Given the description of an element on the screen output the (x, y) to click on. 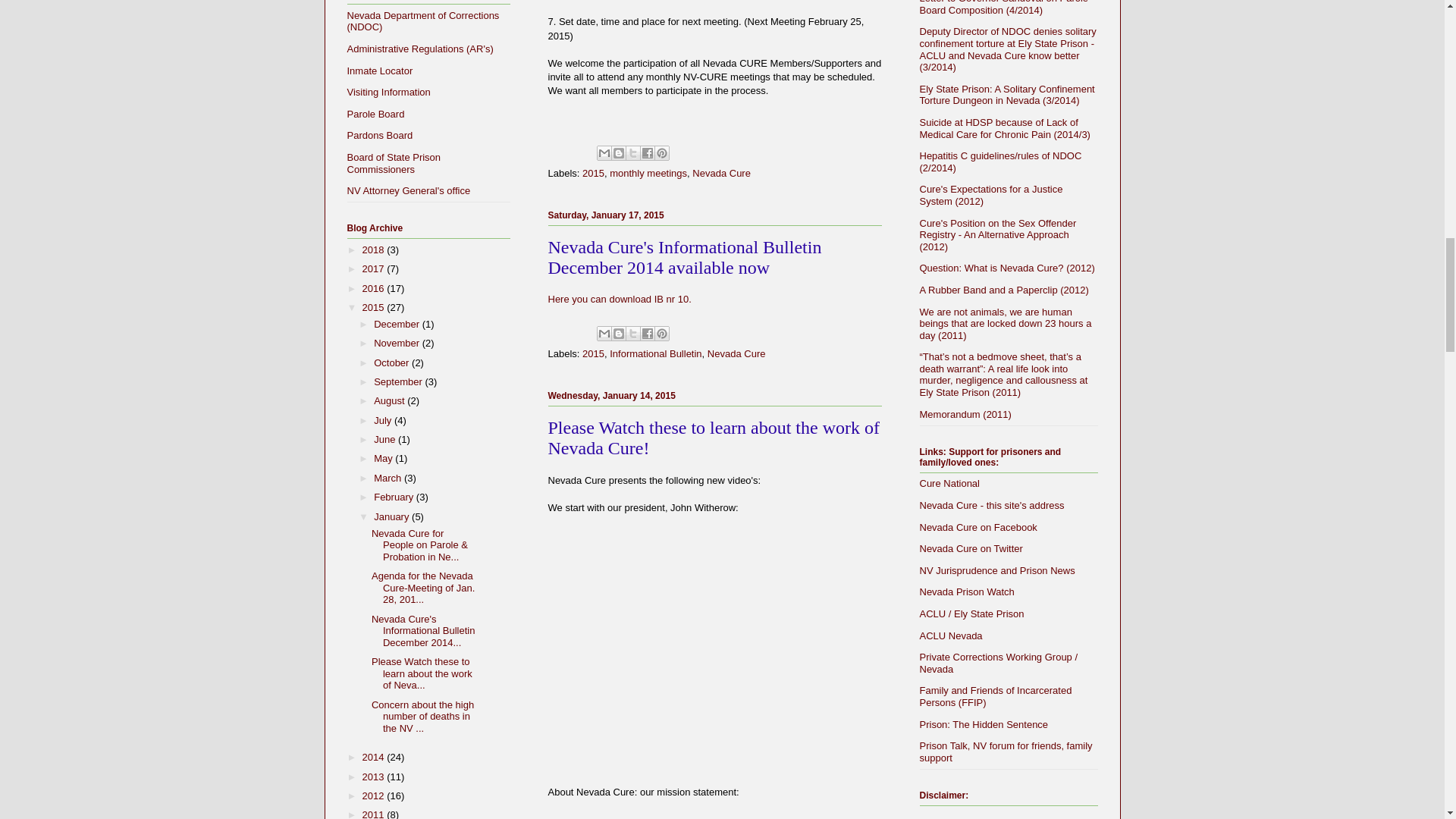
Share to Pinterest (660, 152)
BlogThis! (618, 333)
Share to Facebook (647, 152)
2015 (593, 173)
Share to Twitter (632, 152)
Share to Facebook (647, 152)
Share to Twitter (632, 333)
monthly meetings (648, 173)
Nevada Cure (722, 173)
Email This (603, 333)
